Given the description of an element on the screen output the (x, y) to click on. 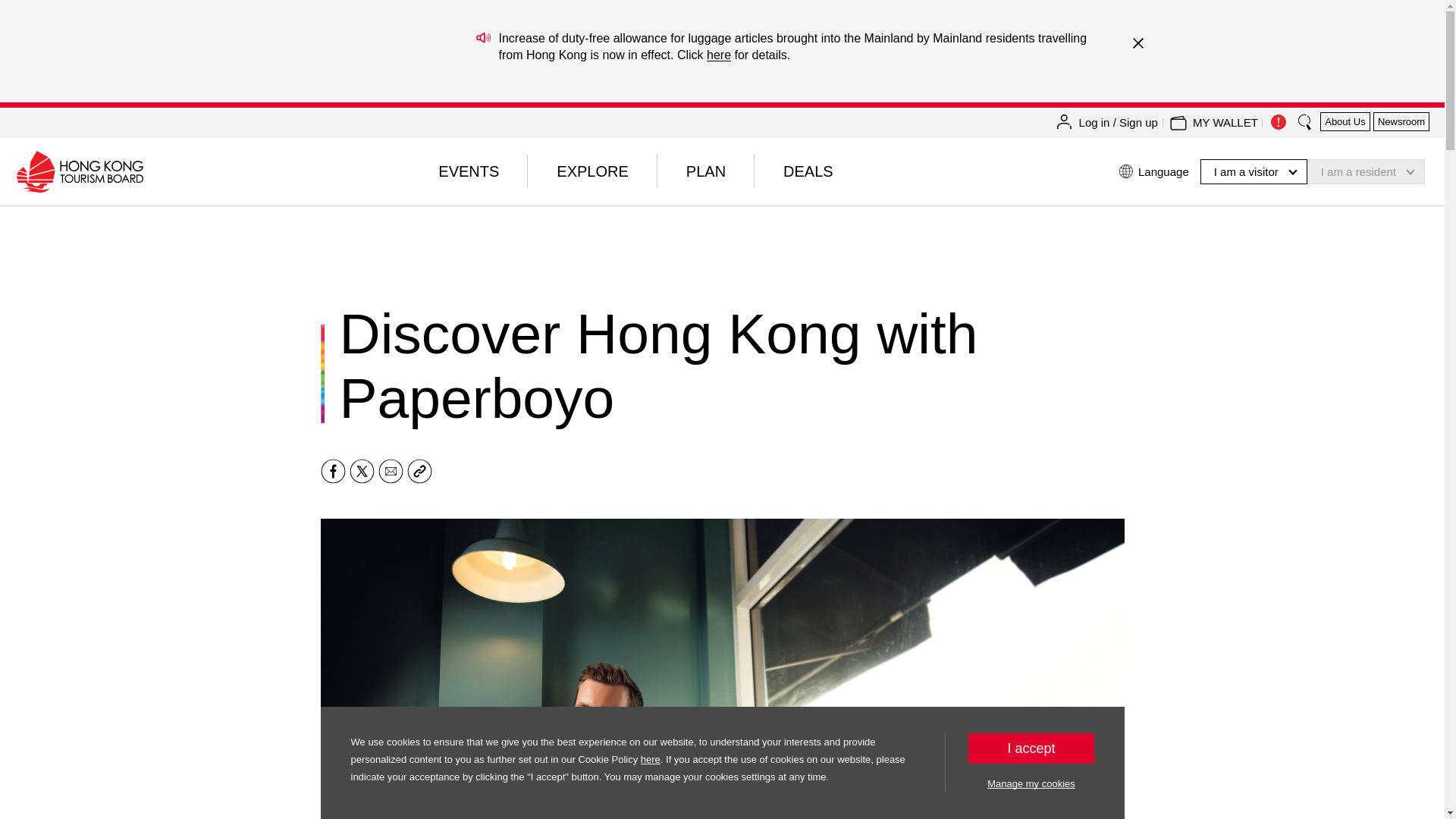
here (718, 54)
EXPLORE (591, 171)
Hong Kong Tourism Board (79, 171)
MY WALLET (1224, 122)
PLAN (706, 171)
Newsroom (1401, 121)
About Us (1345, 121)
